Given the description of an element on the screen output the (x, y) to click on. 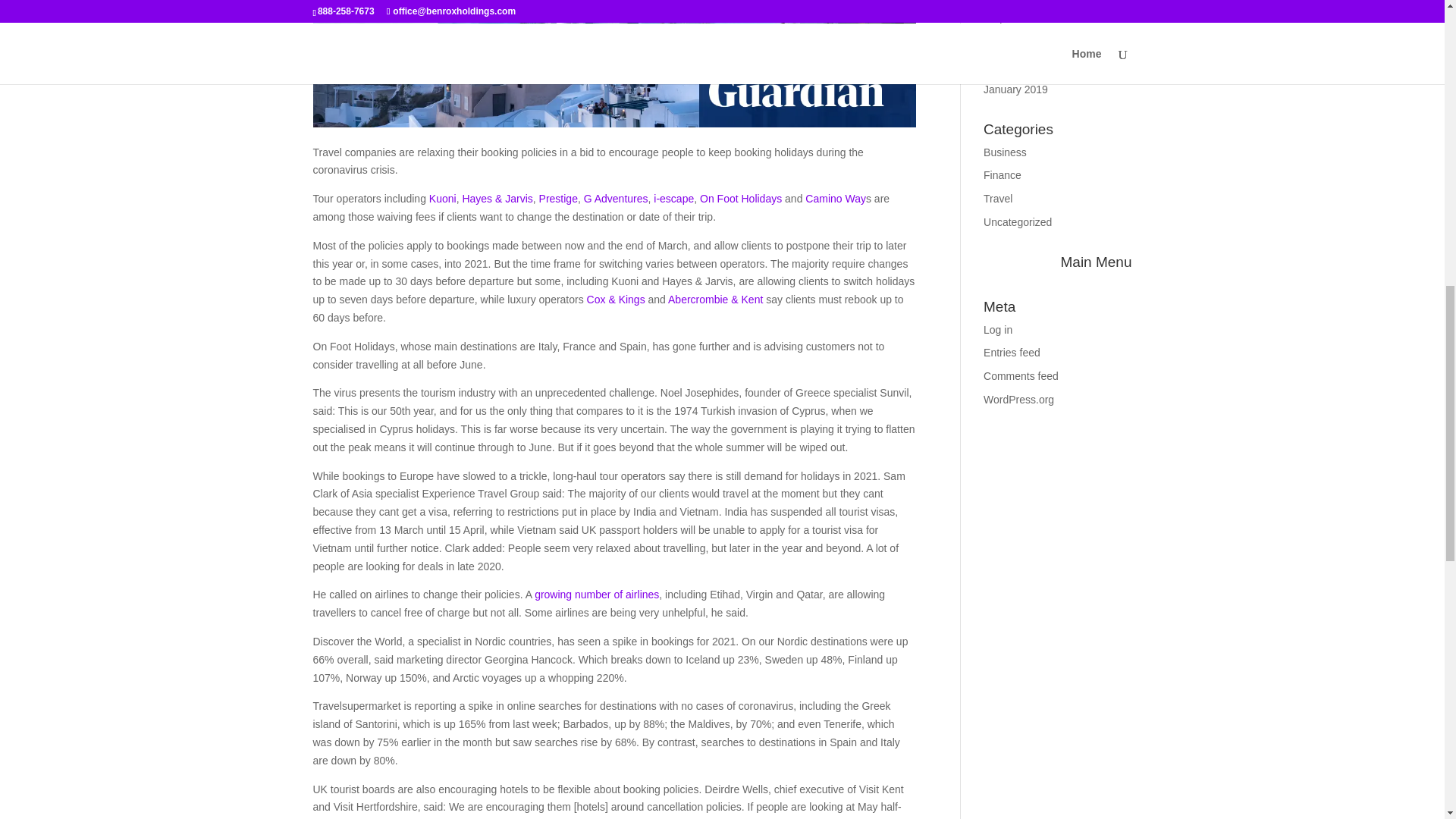
growing number of airlines (596, 594)
Prestige (558, 198)
June 2019 (1008, 1)
Kuoni (443, 198)
Hayes (478, 198)
On Foot Holidays (740, 198)
i-escape (673, 198)
Cox (597, 299)
Abercrombie (699, 299)
Camino Way (834, 198)
G Adventures (613, 198)
